Given the description of an element on the screen output the (x, y) to click on. 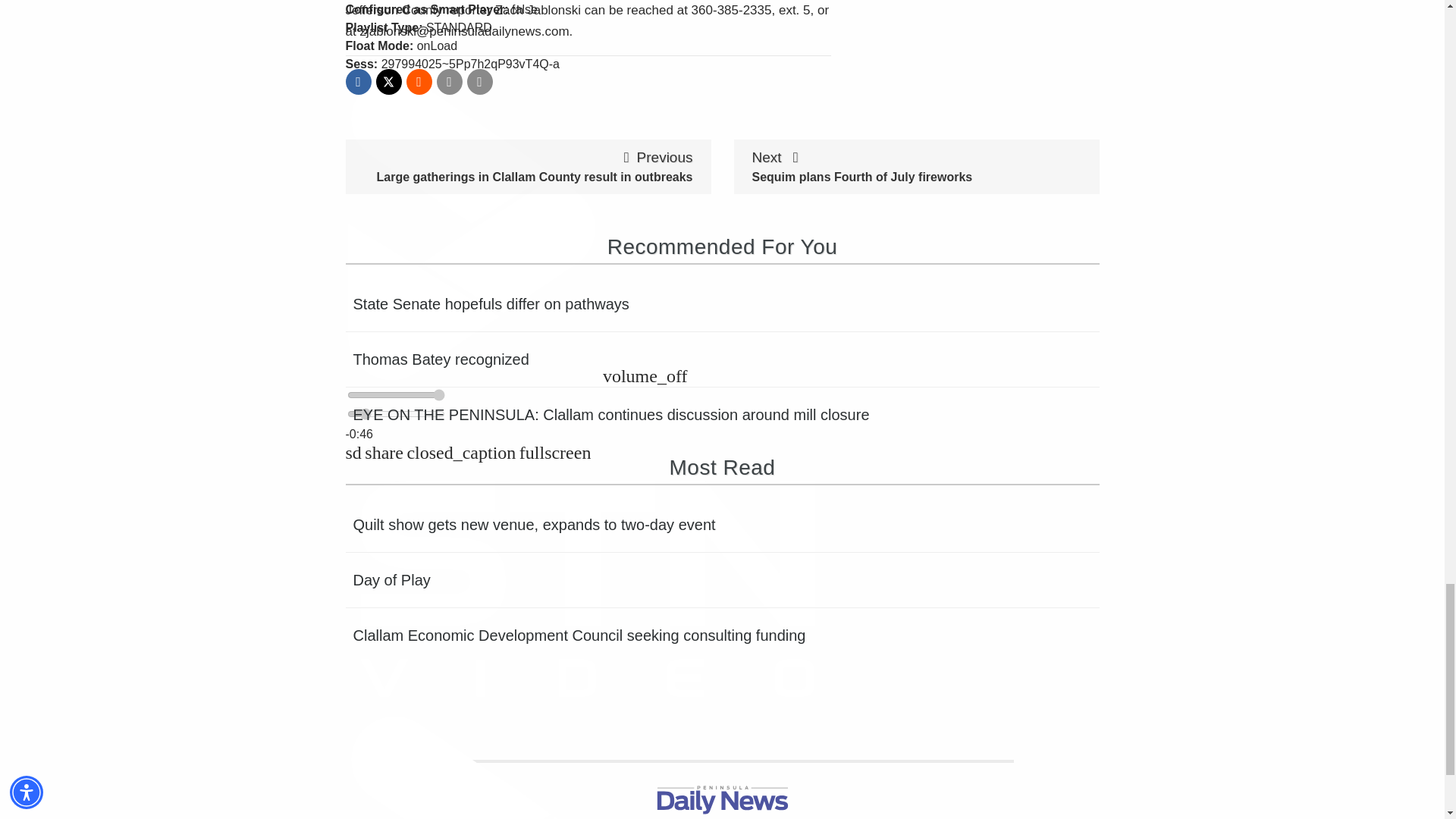
Post to Reddit (419, 81)
Email story (449, 81)
Post to Twitter (388, 81)
Post to Facebook (358, 81)
